Given the description of an element on the screen output the (x, y) to click on. 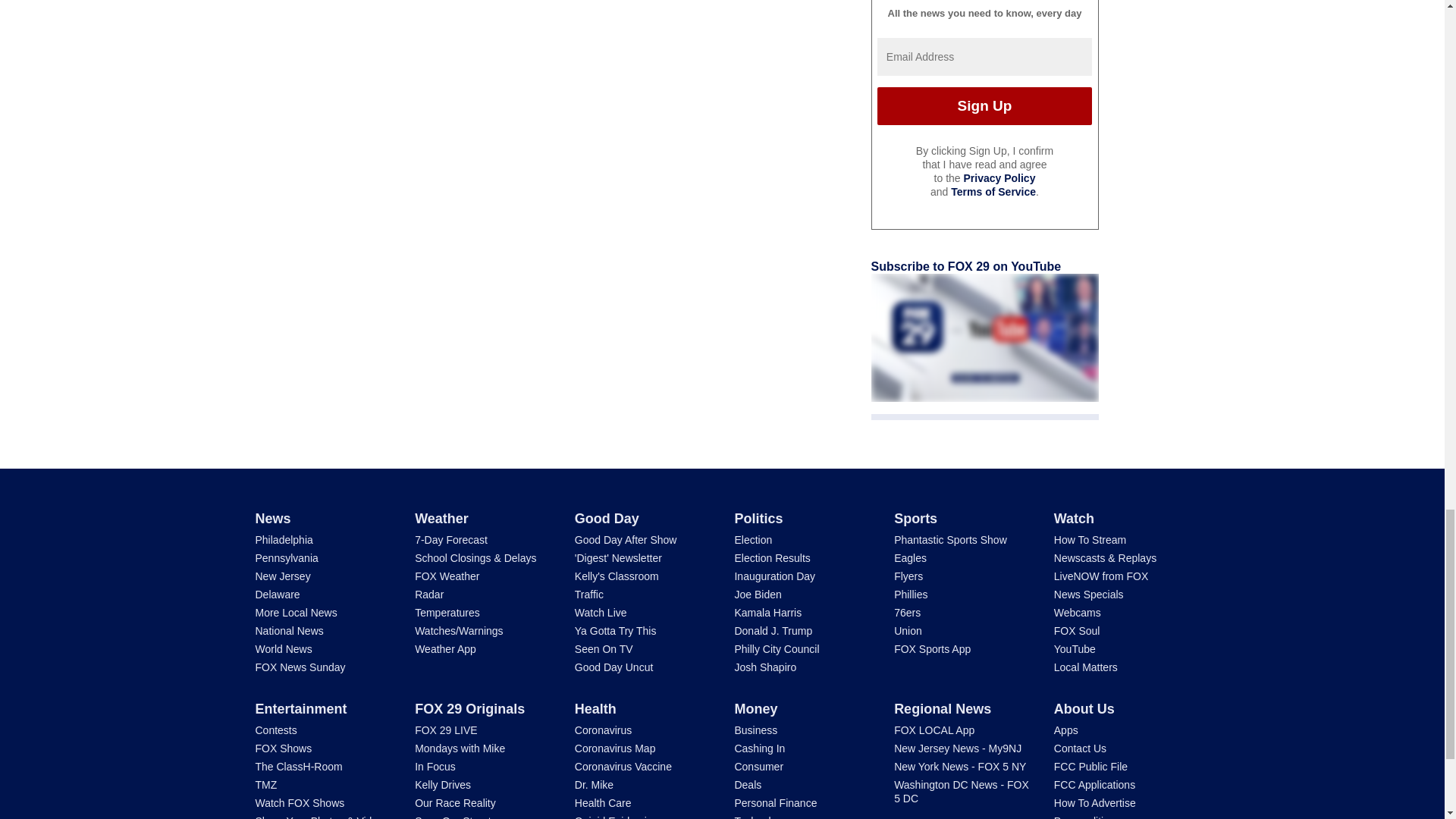
Sign Up (984, 105)
